Given the description of an element on the screen output the (x, y) to click on. 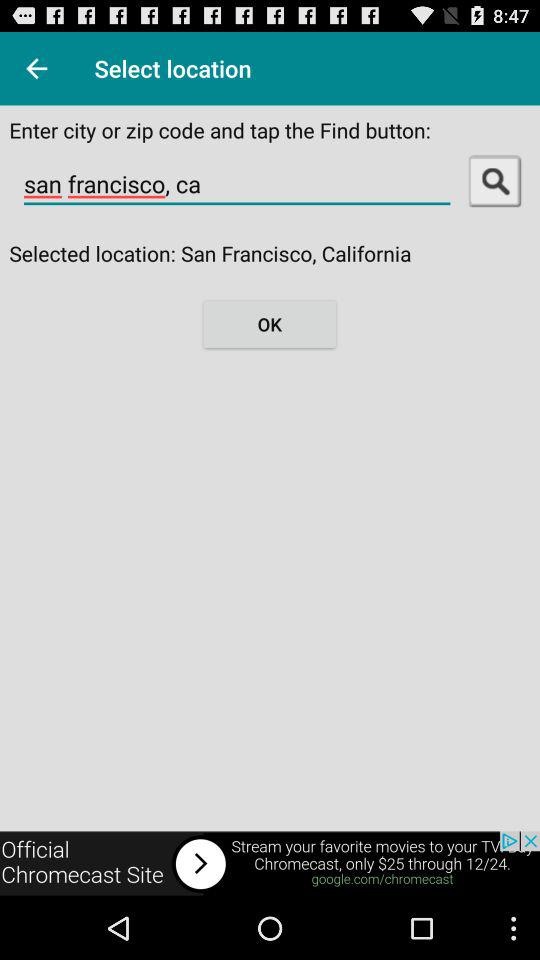
click here for chromecast streaming (270, 864)
